Given the description of an element on the screen output the (x, y) to click on. 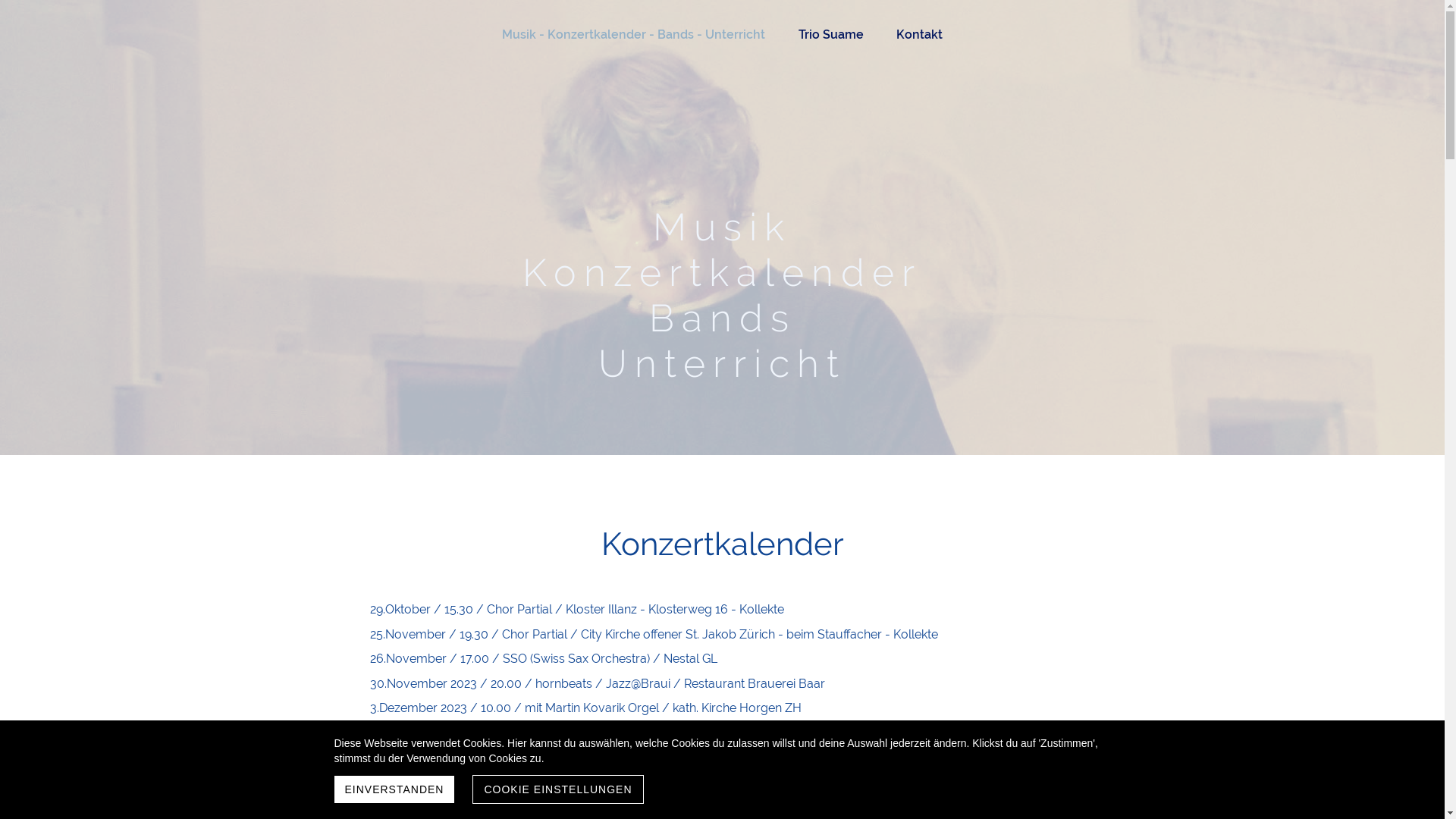
COOKIE EINSTELLUNGEN Element type: text (557, 789)
Musik - Konzertkalender - Bands - Unterricht Element type: text (633, 34)
EINVERSTANDEN Element type: text (393, 789)
Trio Suame Element type: text (830, 34)
Kontakt Element type: text (919, 34)
